Given the description of an element on the screen output the (x, y) to click on. 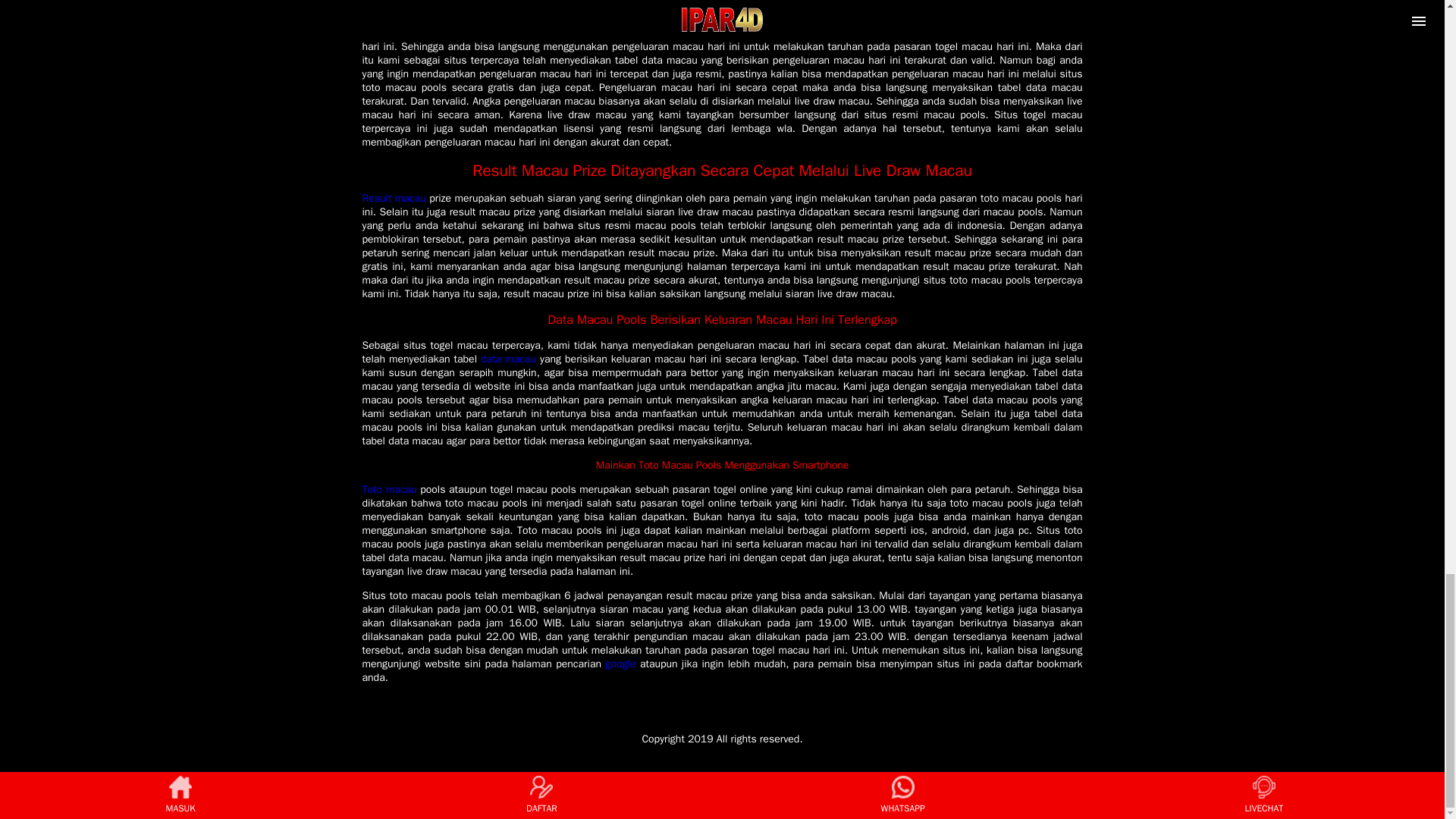
data macau (507, 358)
google (619, 663)
Pengeluaran macau (408, 32)
Result macau (394, 197)
Toto macau (389, 489)
